Given the description of an element on the screen output the (x, y) to click on. 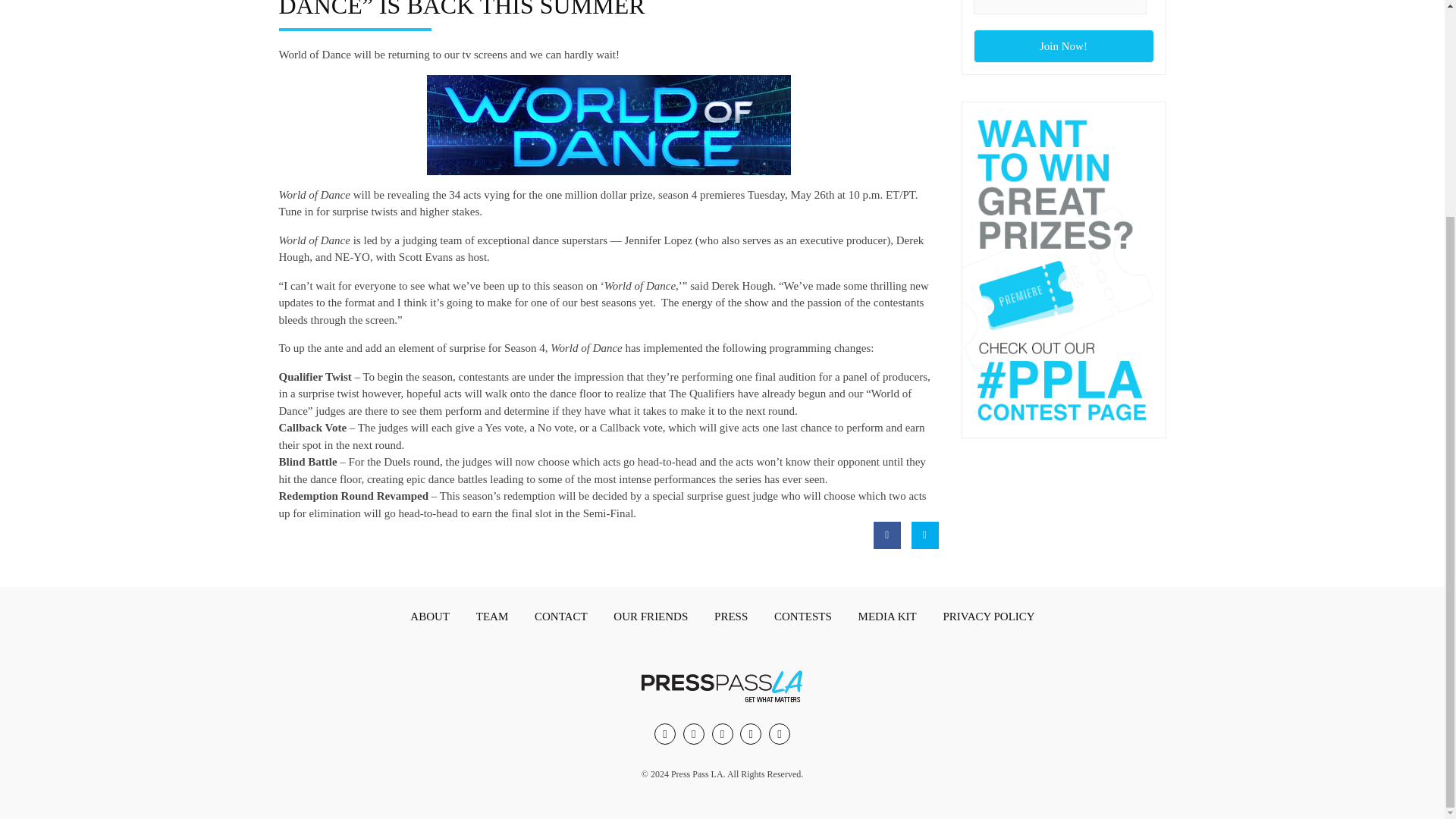
Join Now! (1064, 45)
OUR FRIENDS (650, 617)
CONTACT (561, 617)
Join Now! (1064, 45)
TEAM (492, 617)
ABOUT (430, 617)
PRESS (730, 617)
